Given the description of an element on the screen output the (x, y) to click on. 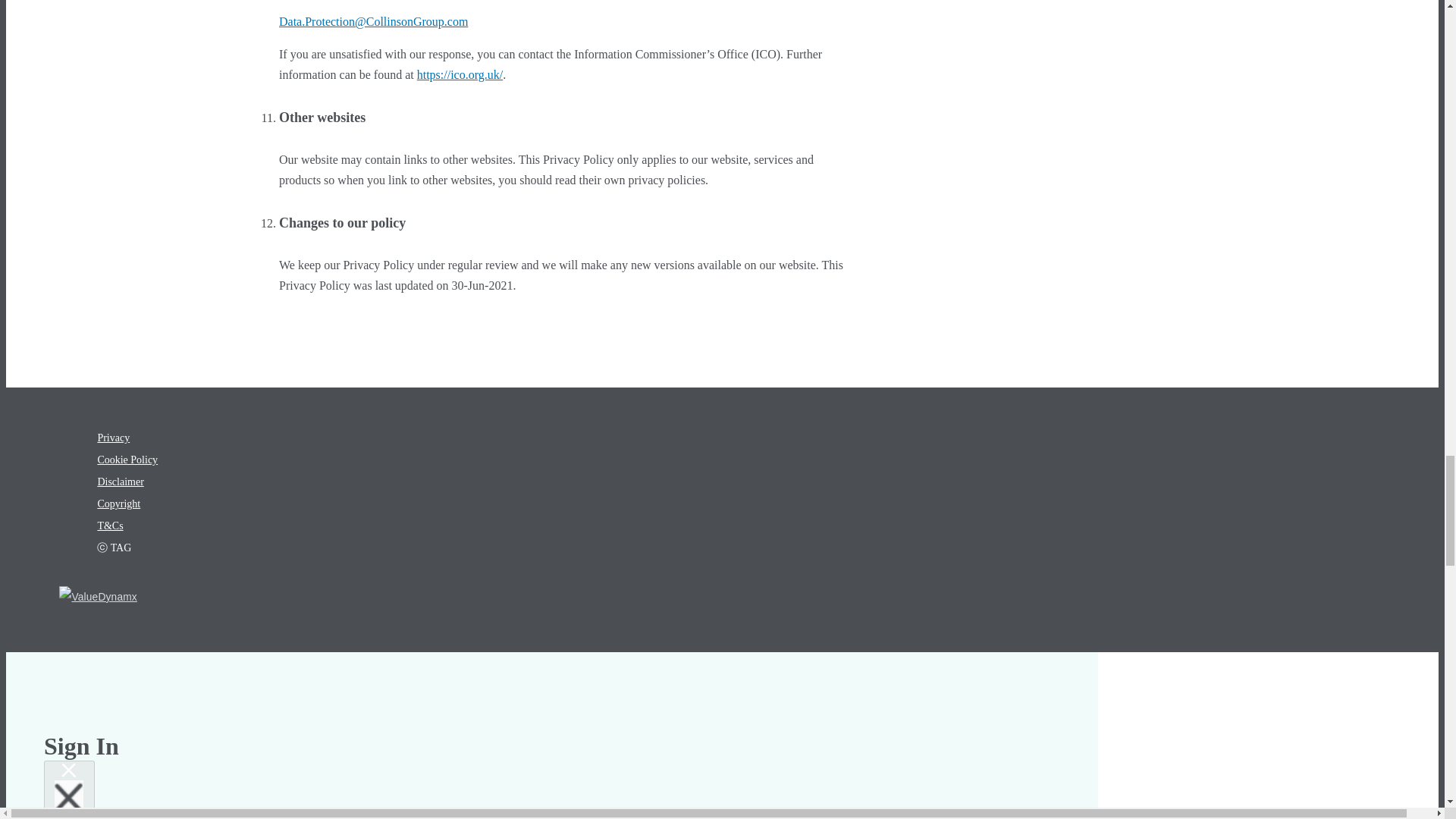
Disclaimer (119, 481)
Cookie Policy (127, 460)
Privacy (113, 437)
Copyright (118, 503)
